Given the description of an element on the screen output the (x, y) to click on. 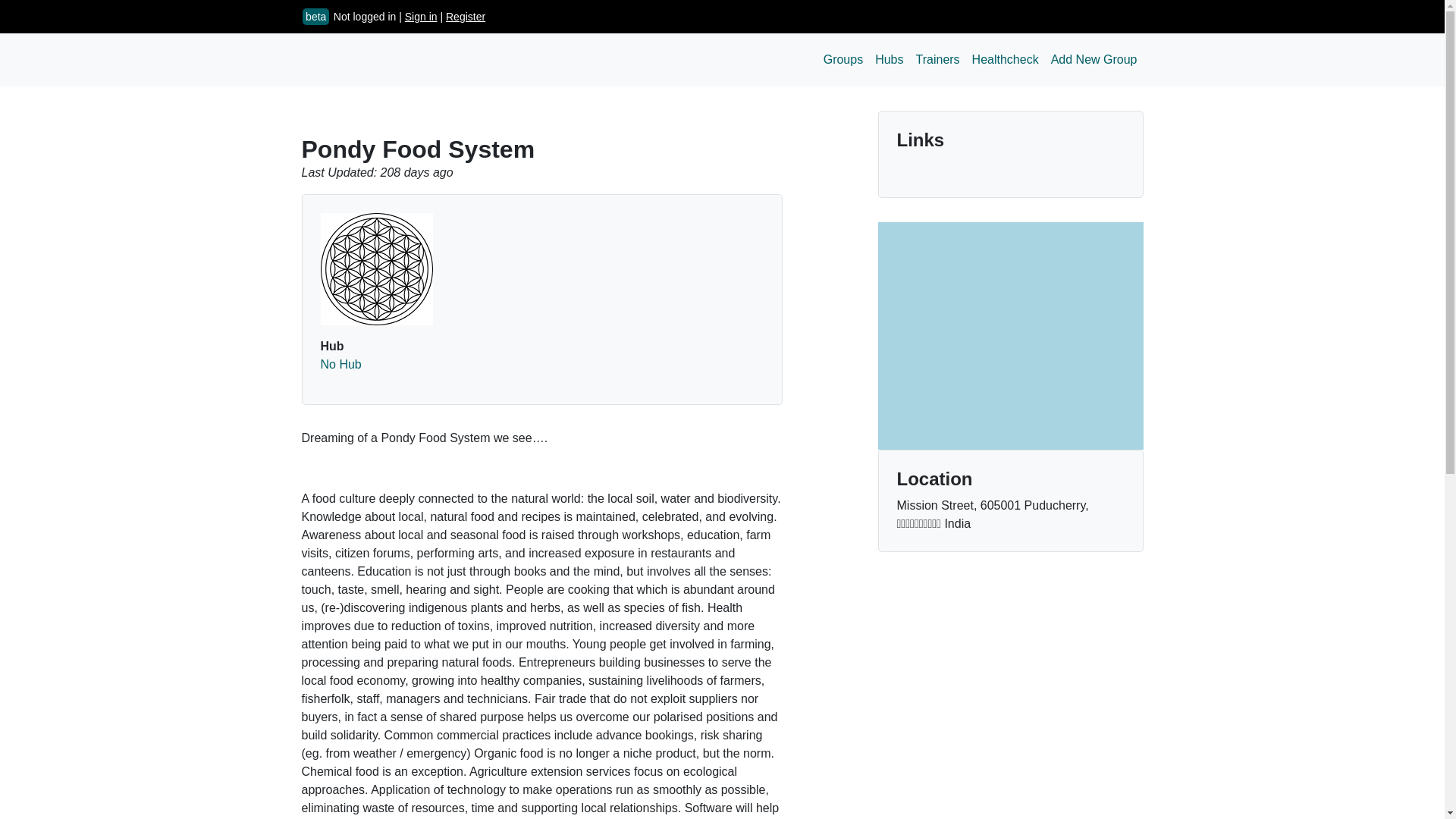
Trainers (938, 60)
Sign in (421, 16)
Healthcheck (1005, 60)
Add New Group (1093, 60)
No Hub (340, 364)
Register (464, 16)
Hubs (888, 60)
Groups (842, 60)
